Given the description of an element on the screen output the (x, y) to click on. 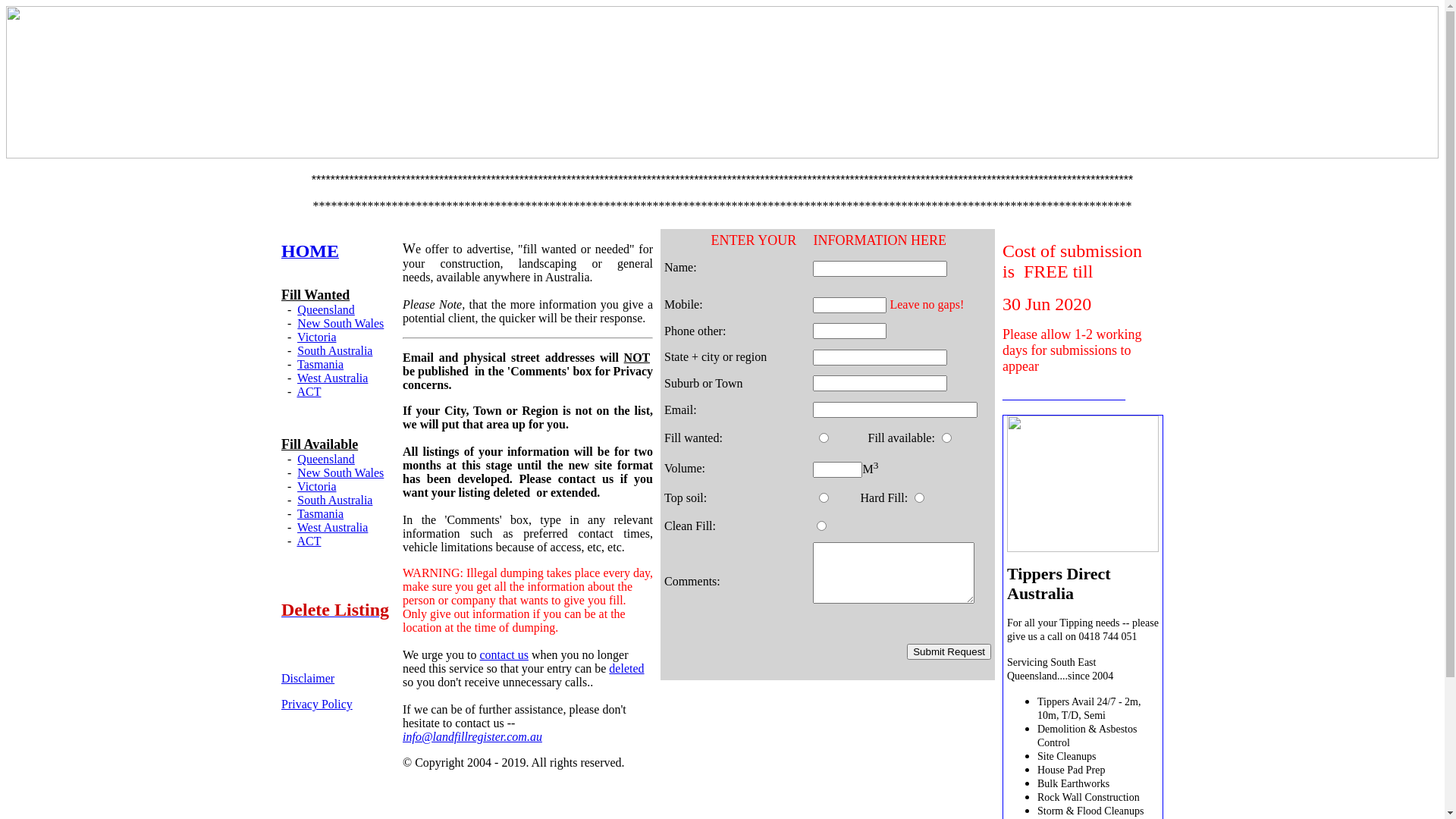
New South Wales Element type: text (340, 322)
Privacy Policy Element type: text (316, 703)
ACT Element type: text (308, 391)
Queensland Element type: text (325, 309)
Delete Listing Element type: text (335, 611)
West Australia Element type: text (332, 377)
Tasmania Element type: text (320, 363)
contact us Element type: text (504, 654)
ACT Element type: text (308, 540)
Victoria Element type: text (316, 336)
Queensland Element type: text (325, 458)
New South Wales Element type: text (340, 472)
HOME Element type: text (309, 252)
Tasmania Element type: text (320, 513)
Disclaimer Element type: text (307, 677)
South Australia Element type: text (334, 499)
Victoria Element type: text (316, 486)
deleted Element type: text (625, 668)
West Australia Element type: text (332, 526)
info@landfillregister.com.au Element type: text (472, 736)
South Australia Element type: text (334, 350)
Submit Request Element type: text (948, 651)
